Given the description of an element on the screen output the (x, y) to click on. 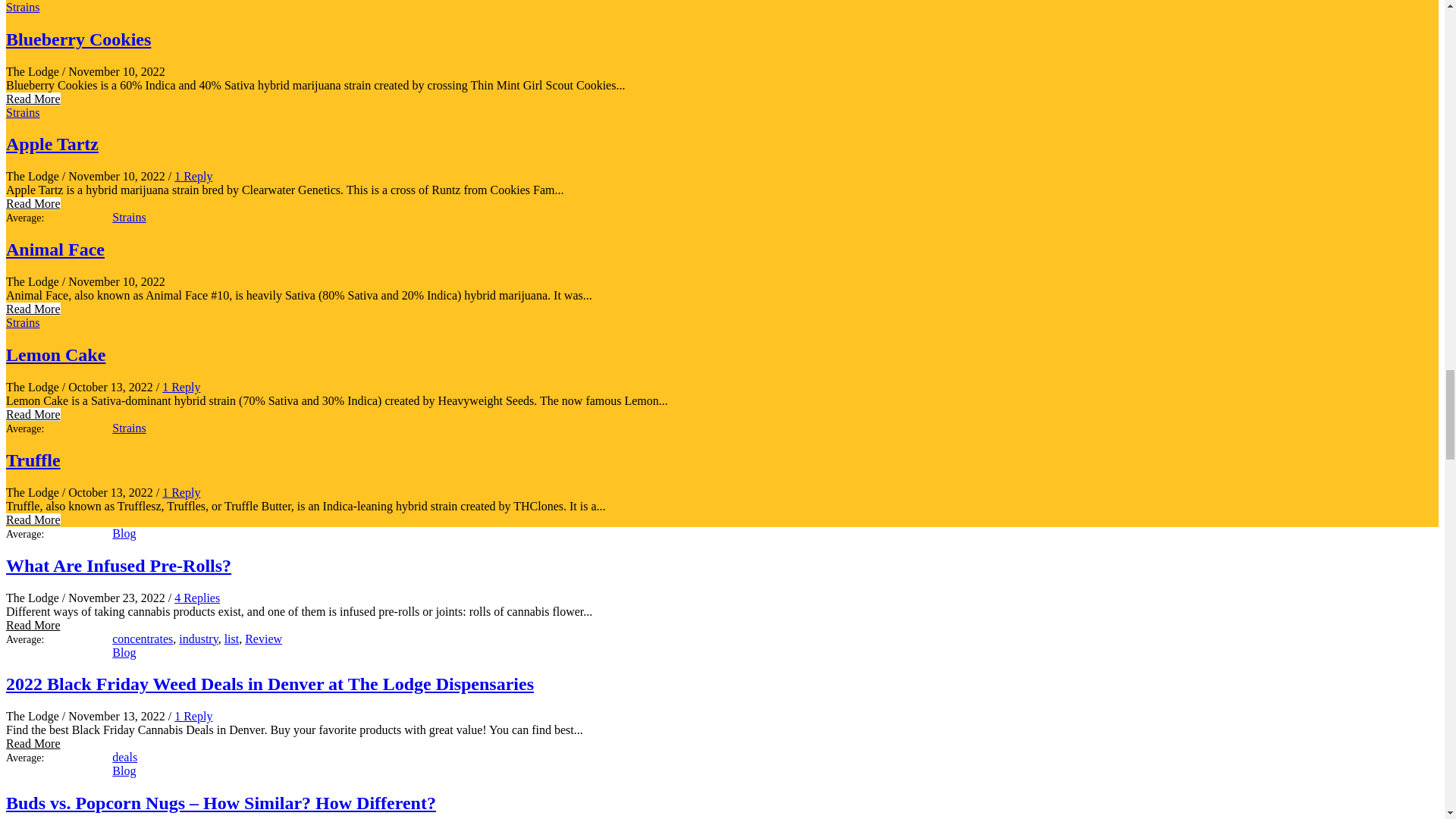
average: 5 out of 5. Total: 1 (58, 758)
average: 5 out of 5. Total: 1 (58, 428)
average: 5 out of 5. Total: 1 (58, 534)
average: 5 out of 5. Total: 4 (58, 639)
average: 4 out of 5. Total: 1 (58, 218)
